Given the description of an element on the screen output the (x, y) to click on. 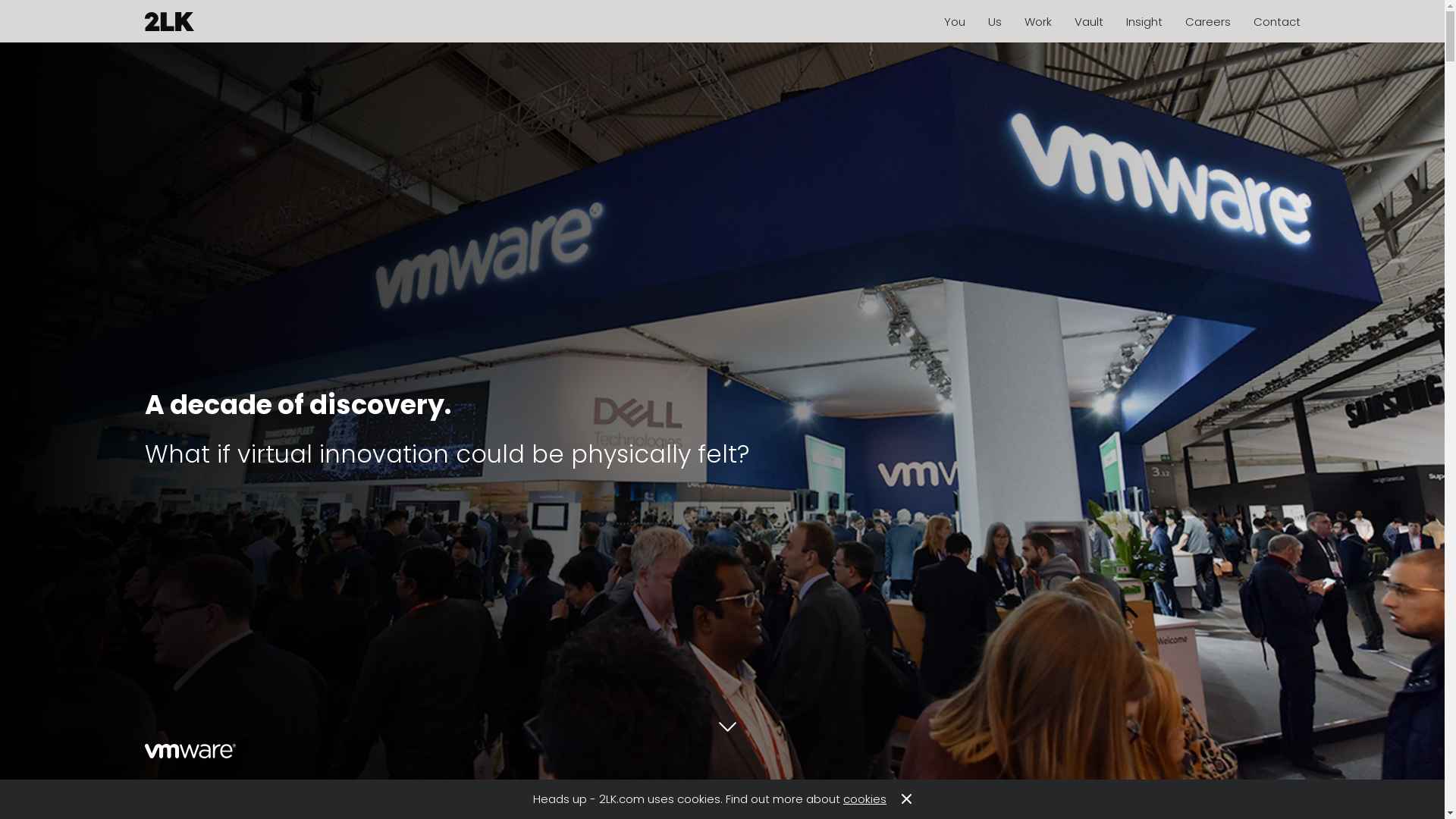
Careers Element type: text (1207, 21)
Us Element type: text (994, 21)
Contact Element type: text (1275, 21)
cookies Element type: text (864, 798)
Insight Element type: text (1143, 21)
Work Element type: text (1037, 21)
You Element type: text (953, 21)
Vault Element type: text (1087, 21)
